Given the description of an element on the screen output the (x, y) to click on. 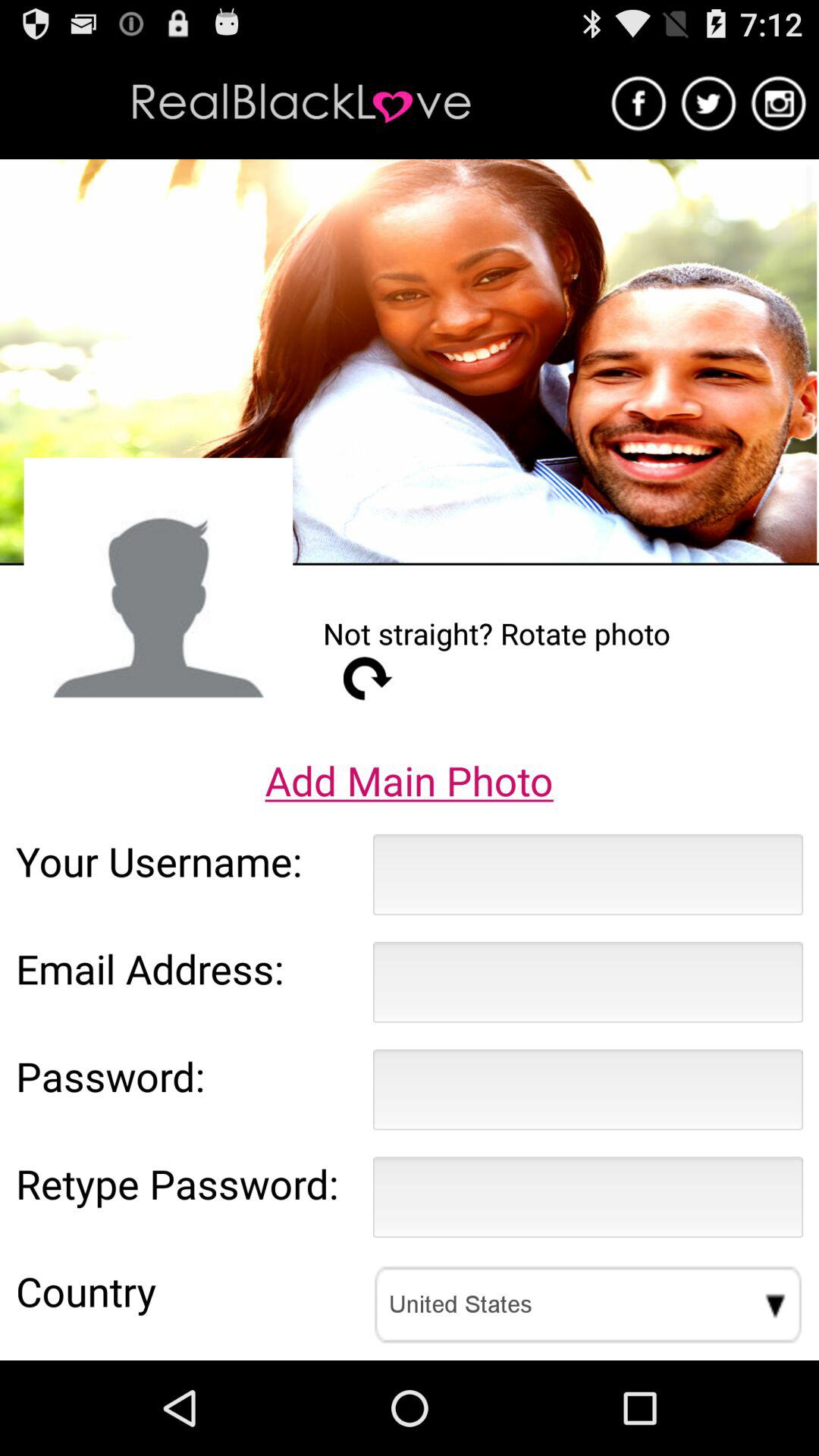
click app above the add main photo item (367, 678)
